Given the description of an element on the screen output the (x, y) to click on. 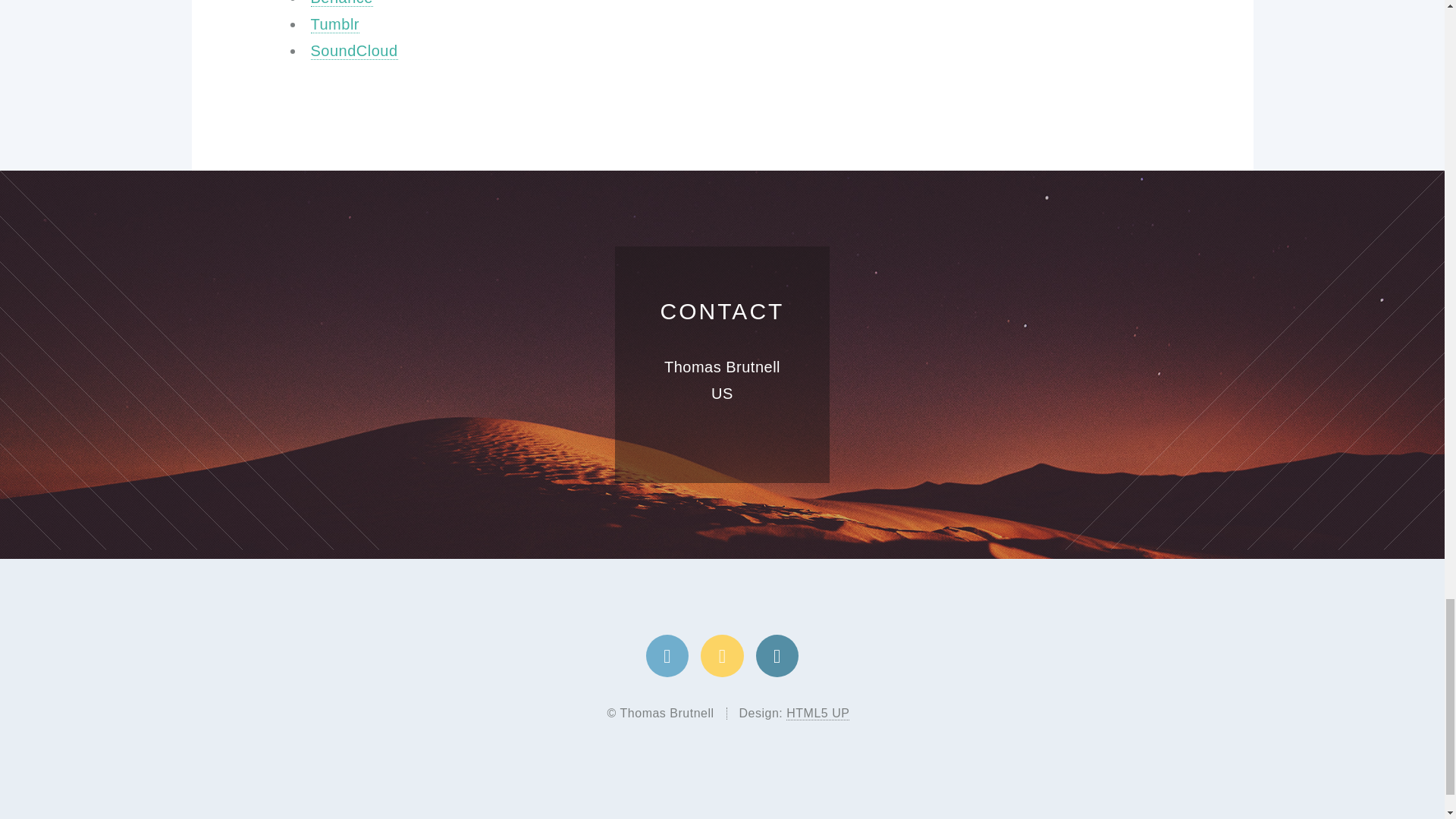
SoundCloud (354, 50)
Tumblr (335, 24)
SoundCloud (354, 50)
Behance (341, 3)
Tumblr (335, 24)
Behance (341, 3)
Twitter (667, 655)
HTML5 UP (817, 713)
Thomas Brutnell on Medium (721, 655)
Linkedin (776, 655)
